Given the description of an element on the screen output the (x, y) to click on. 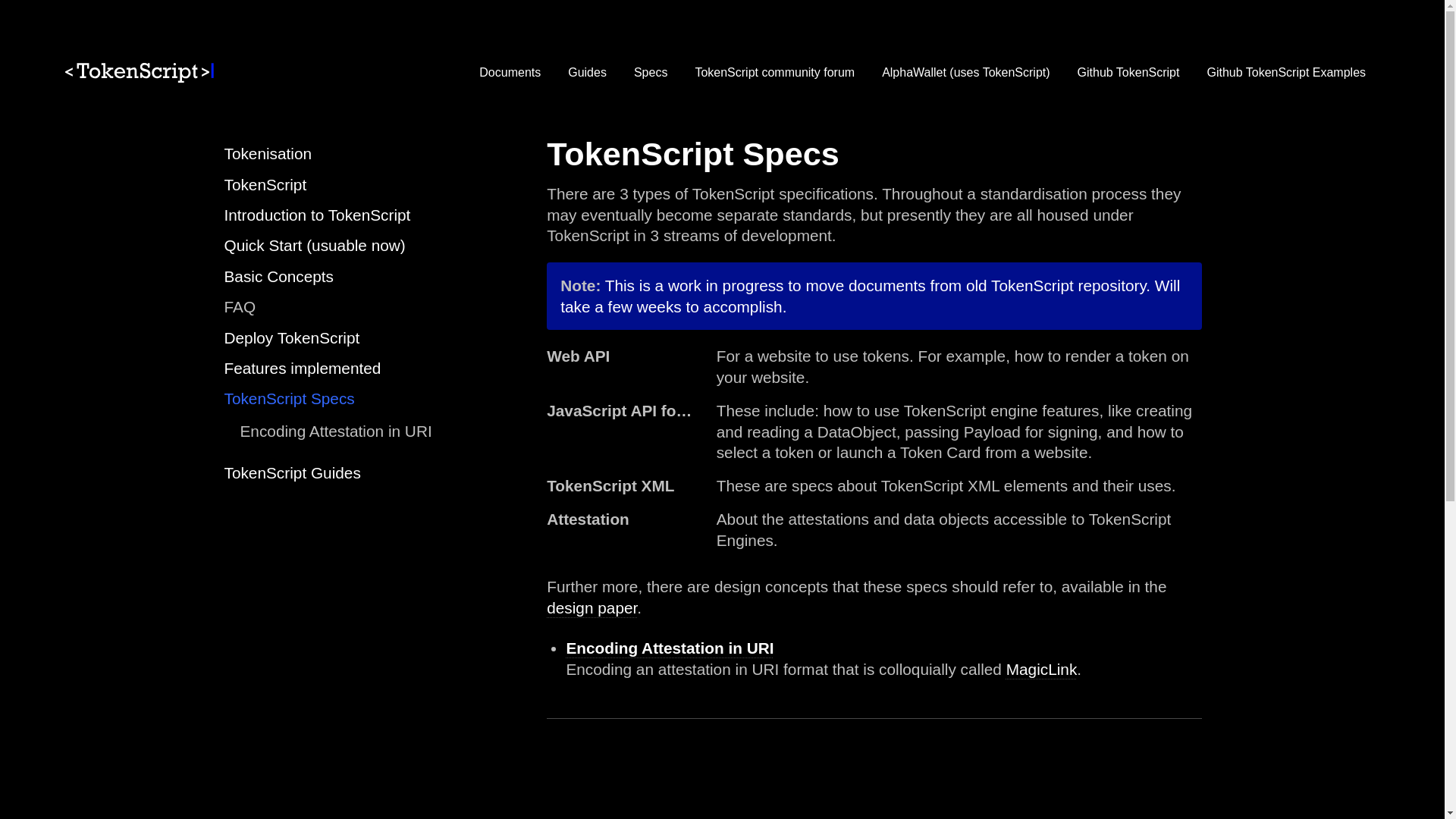
TokenScript community forum (774, 72)
TokenScript Guides (292, 472)
Introduction to TokenScript (317, 214)
Basic Concepts (279, 276)
Specs (650, 72)
TokenScript Specs (289, 398)
Github TokenScript Examples (1285, 72)
Encoding Attestation in URI (669, 647)
Tokenisation (268, 153)
Encoding Attestation in URI (335, 430)
design paper (592, 607)
Guides (587, 72)
Github TokenScript (1128, 72)
Deploy TokenScript (291, 337)
